Given the description of an element on the screen output the (x, y) to click on. 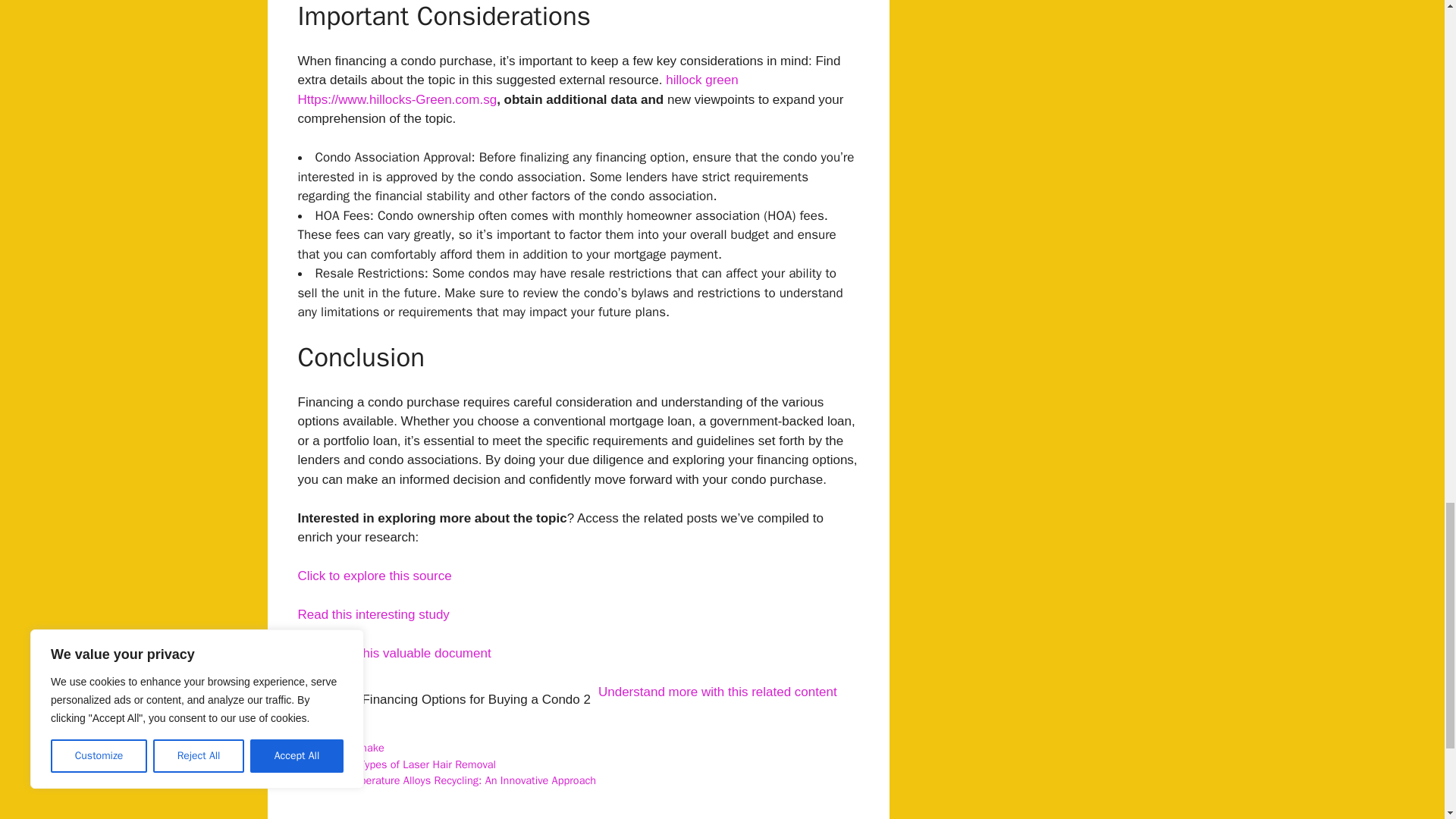
Read this interesting study (372, 614)
Click to explore this source (374, 575)
Understand more with this related content (717, 691)
Check out this valuable document (393, 653)
General (333, 730)
Different Types of Laser Hair Removal (405, 764)
High-Temperature Alloys Recycling: An Innovative Approach (455, 780)
